Given the description of an element on the screen output the (x, y) to click on. 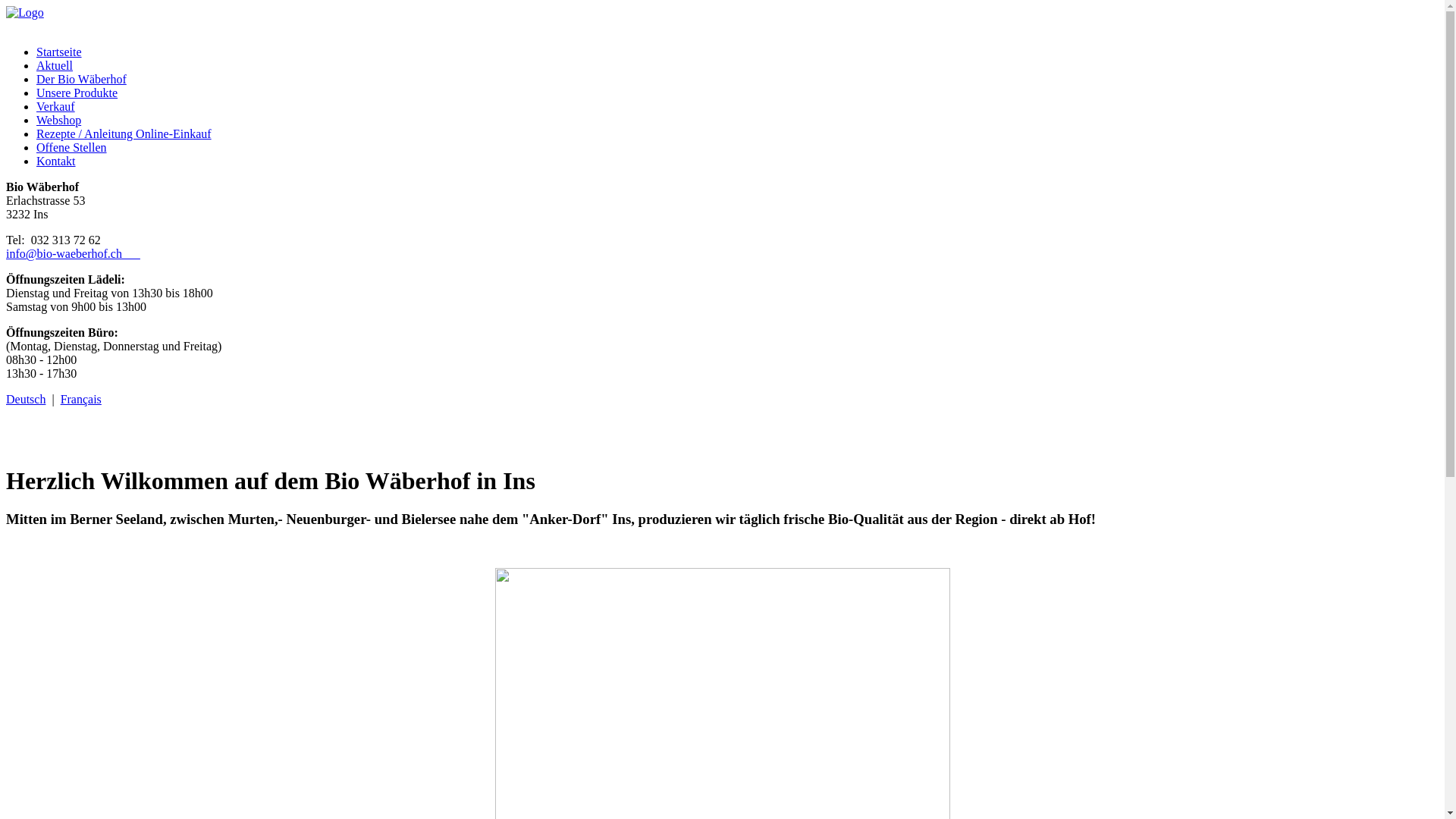
Startseite Element type: text (58, 51)
Deutsch Element type: text (25, 398)
Unsere Produkte Element type: text (76, 92)
Rezepte / Anleitung Online-Einkauf Element type: text (123, 133)
Offene Stellen Element type: text (71, 147)
Verkauf Element type: text (55, 106)
Kontakt Element type: text (55, 160)
Webshop Element type: text (58, 119)
Aktuell Element type: text (54, 65)
info@bio-waeberhof.ch       Element type: text (73, 253)
